Given the description of an element on the screen output the (x, y) to click on. 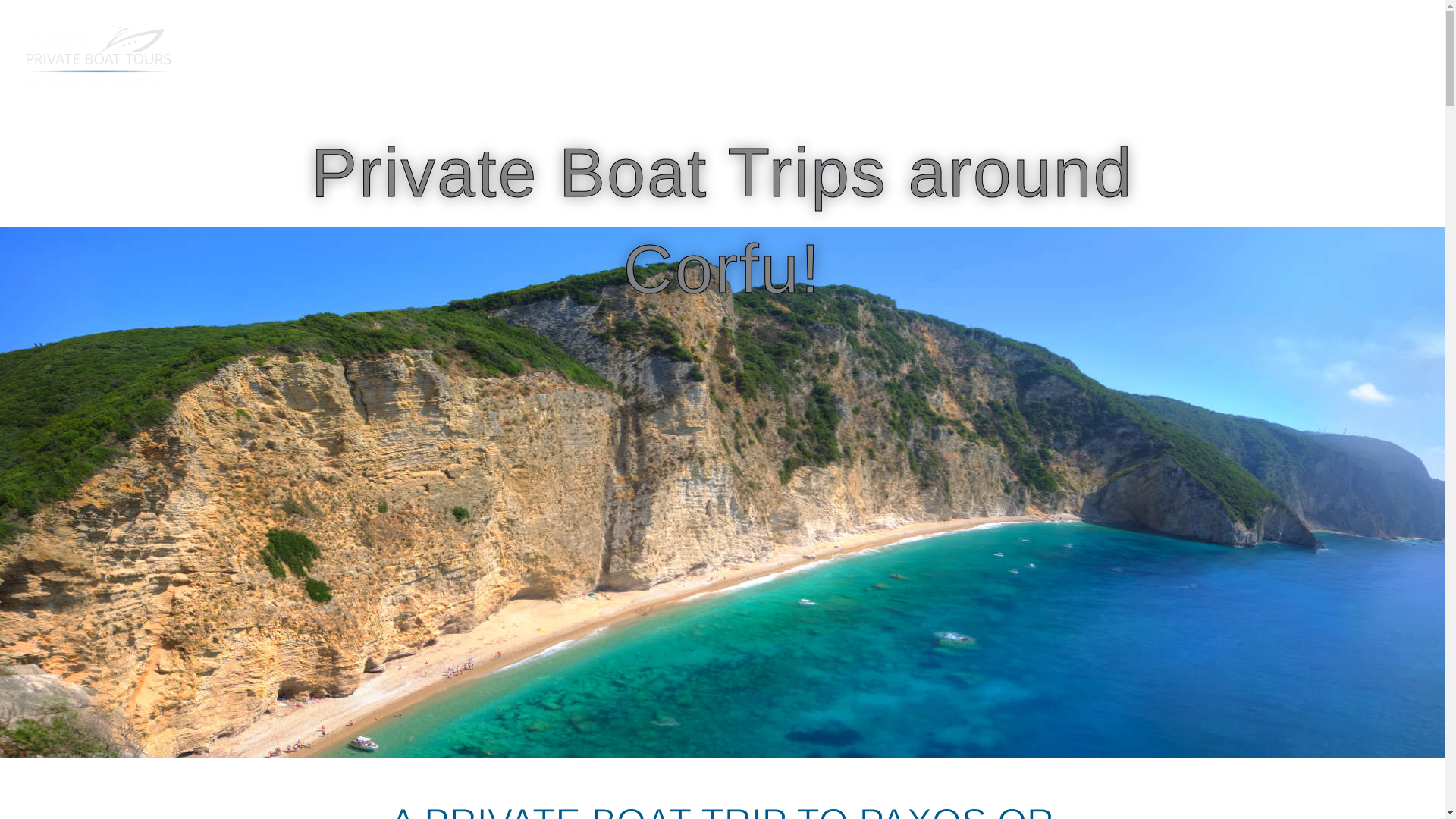
The Boat Tours (809, 54)
BOOK NOW (1338, 54)
Self Driven Boats (1009, 54)
